Given the description of an element on the screen output the (x, y) to click on. 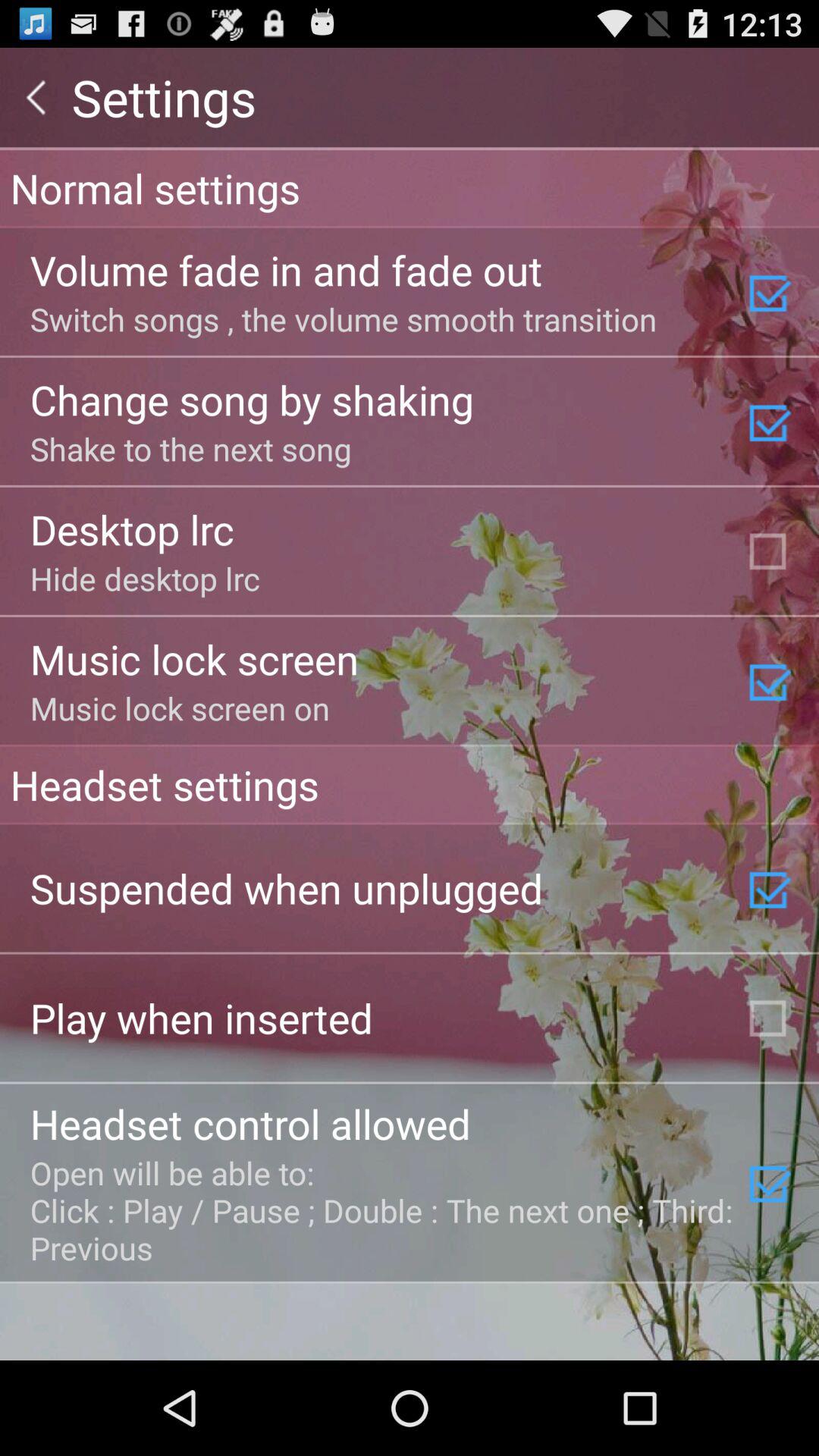
turn on app above volume fade in (409, 187)
